Given the description of an element on the screen output the (x, y) to click on. 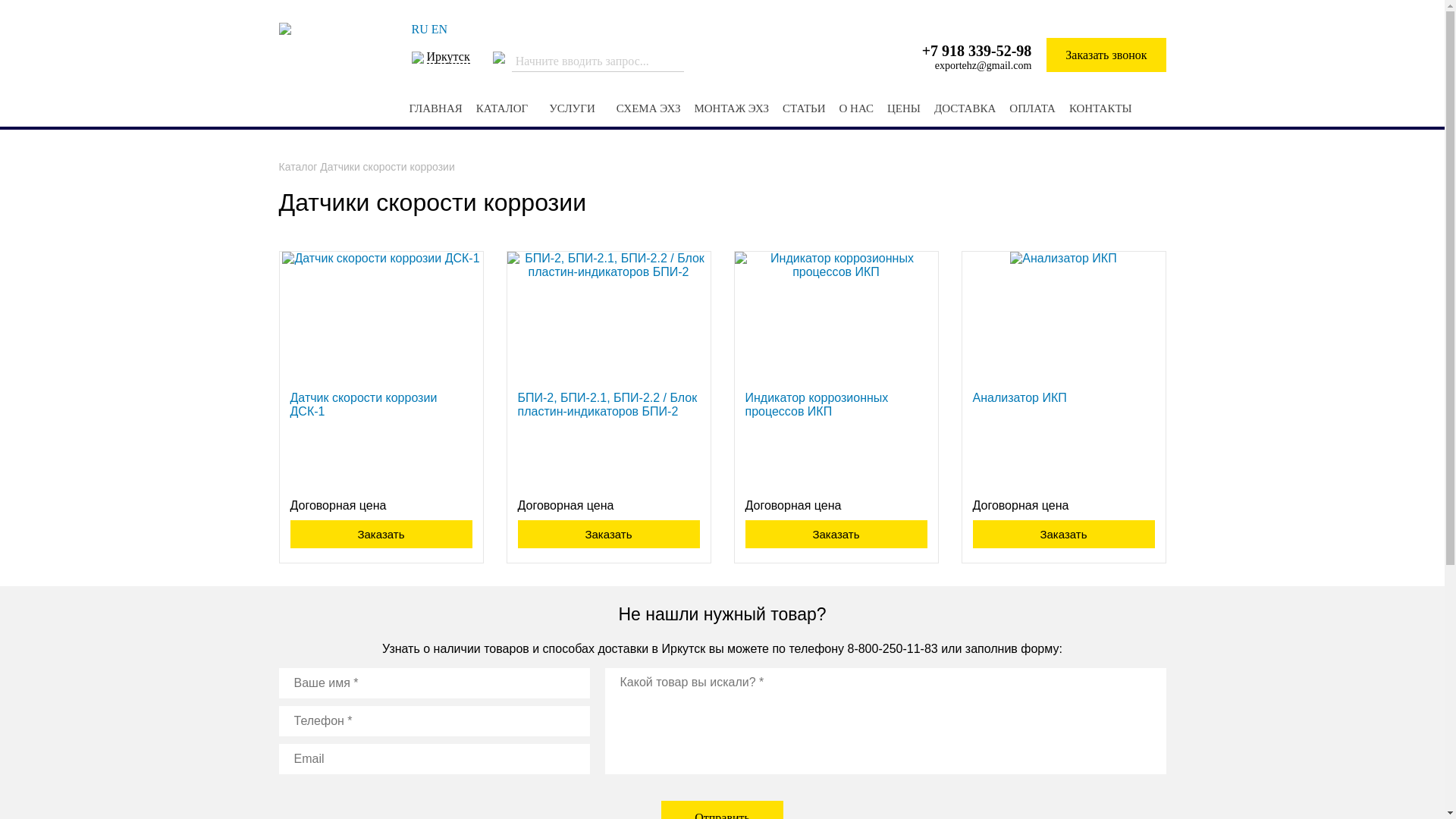
exportehz@gmail.com Element type: text (983, 65)
EN Element type: text (439, 28)
RU Element type: text (419, 28)
